Given the description of an element on the screen output the (x, y) to click on. 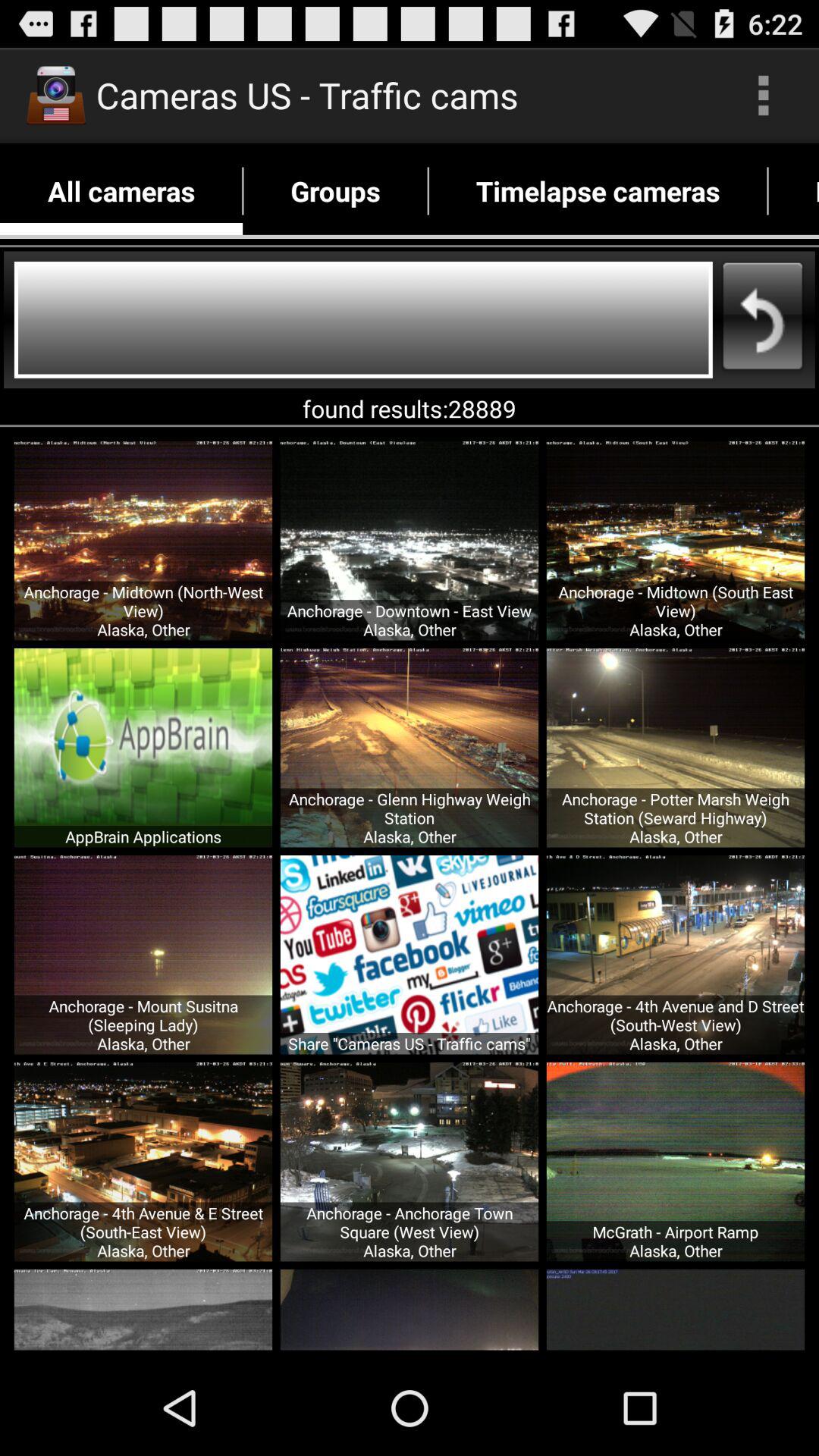
search all cameras (363, 319)
